Given the description of an element on the screen output the (x, y) to click on. 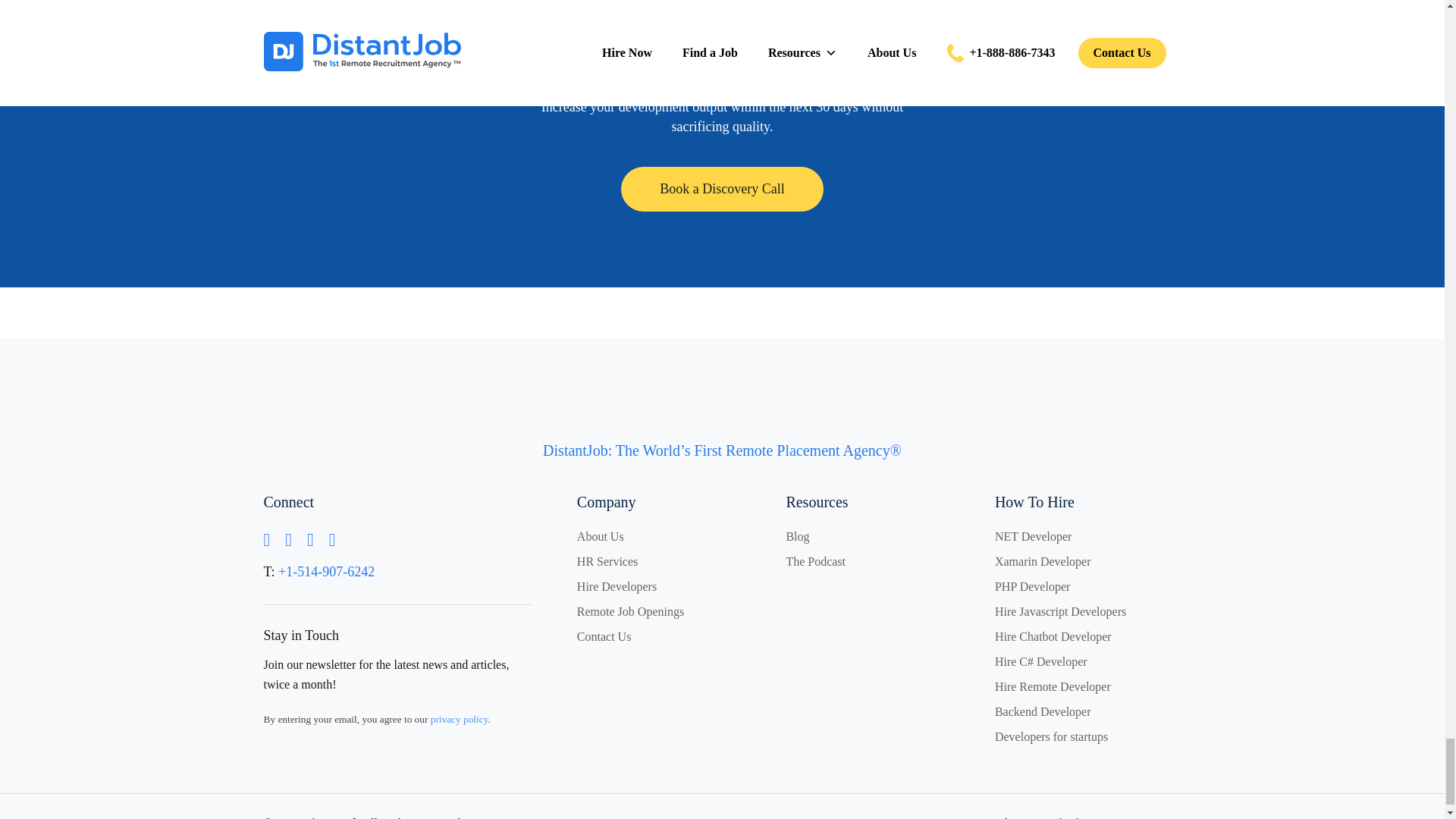
Hire a Developer (722, 189)
